Given the description of an element on the screen output the (x, y) to click on. 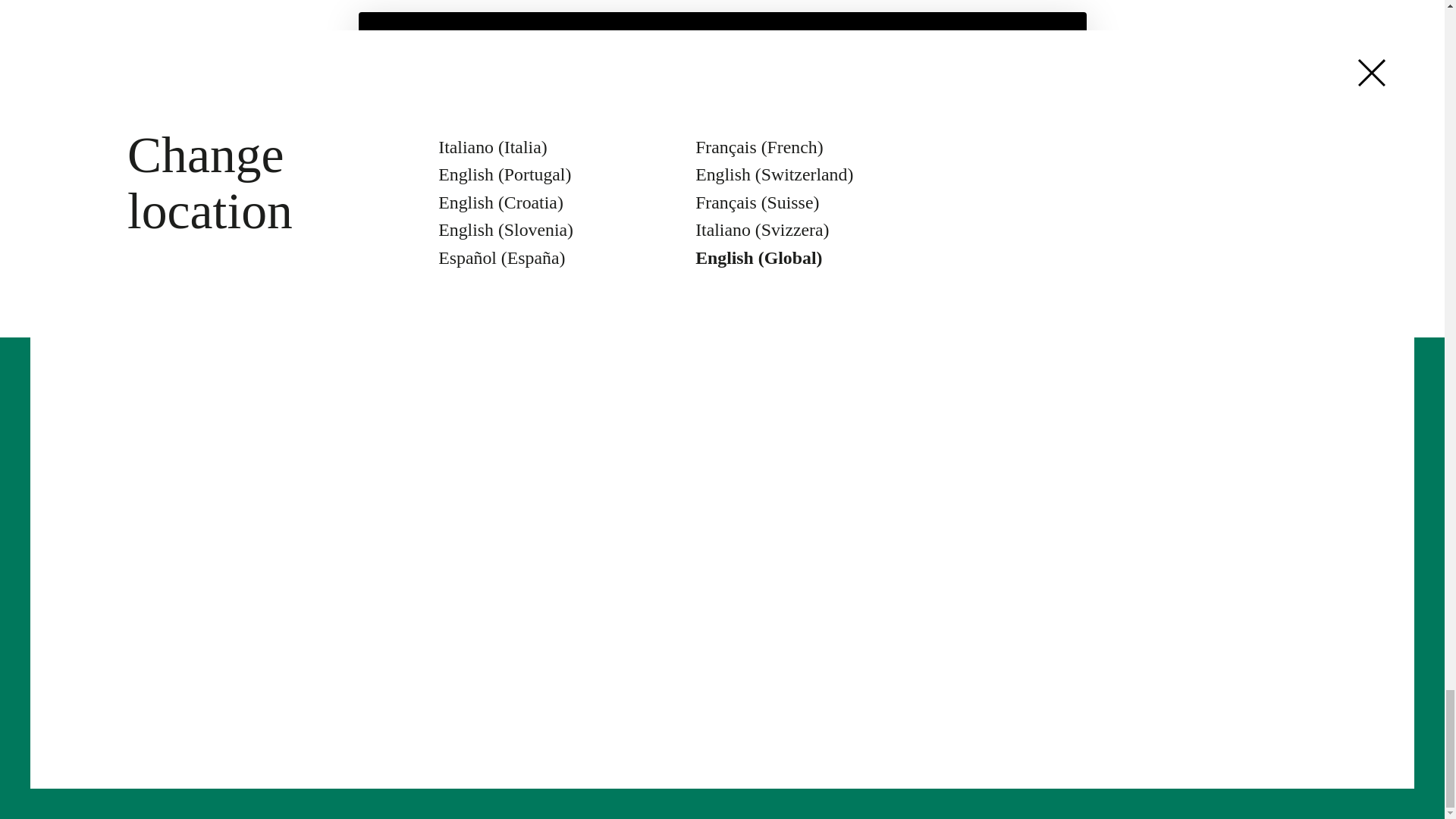
346 3503753 (864, 63)
Shared charging (593, 545)
Contact us (755, 486)
333 2084455 (888, 24)
Home charging (590, 486)
